Given the description of an element on the screen output the (x, y) to click on. 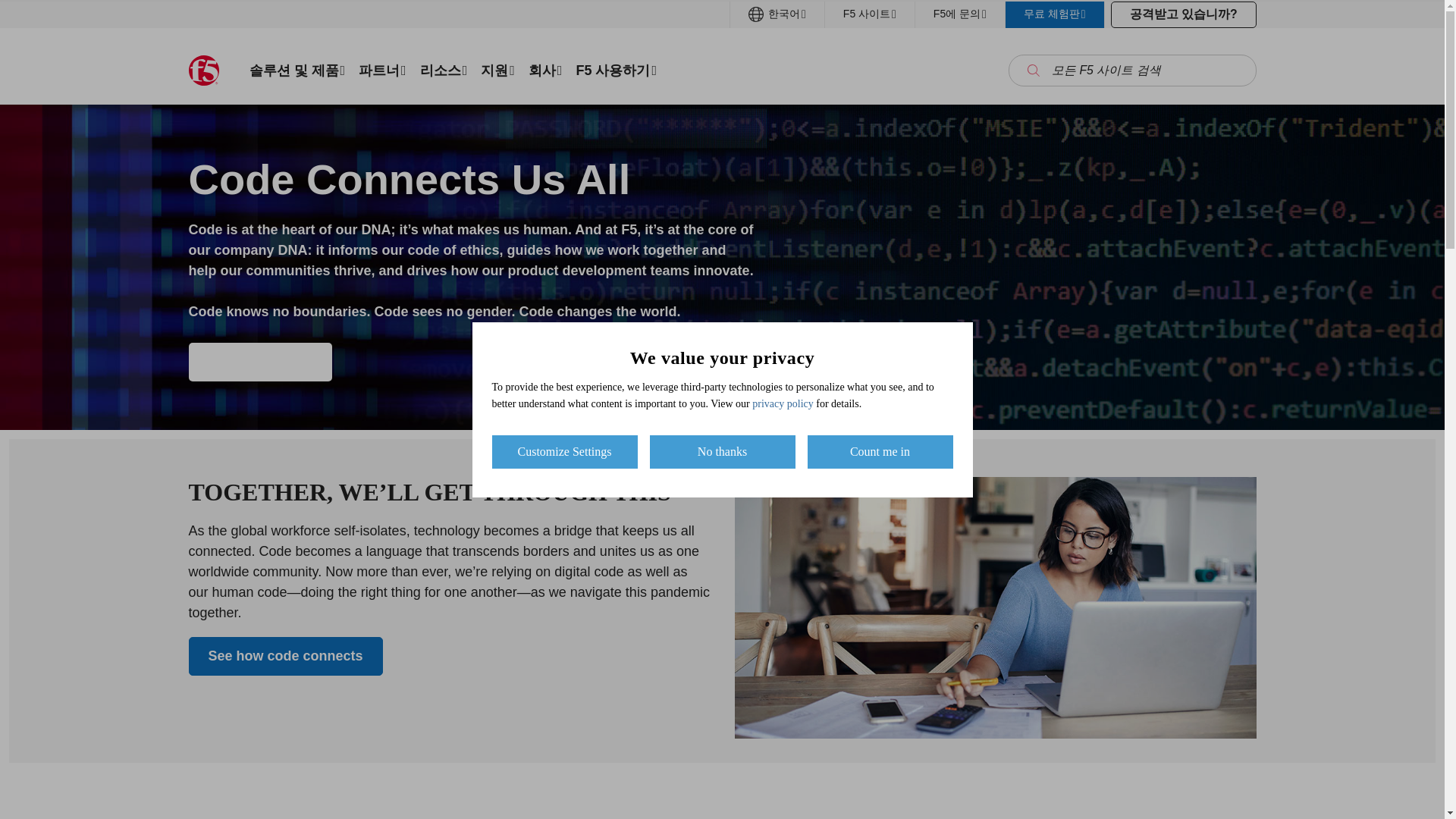
F5 (202, 70)
Watch the video (259, 362)
See how code connects (284, 656)
